Given the description of an element on the screen output the (x, y) to click on. 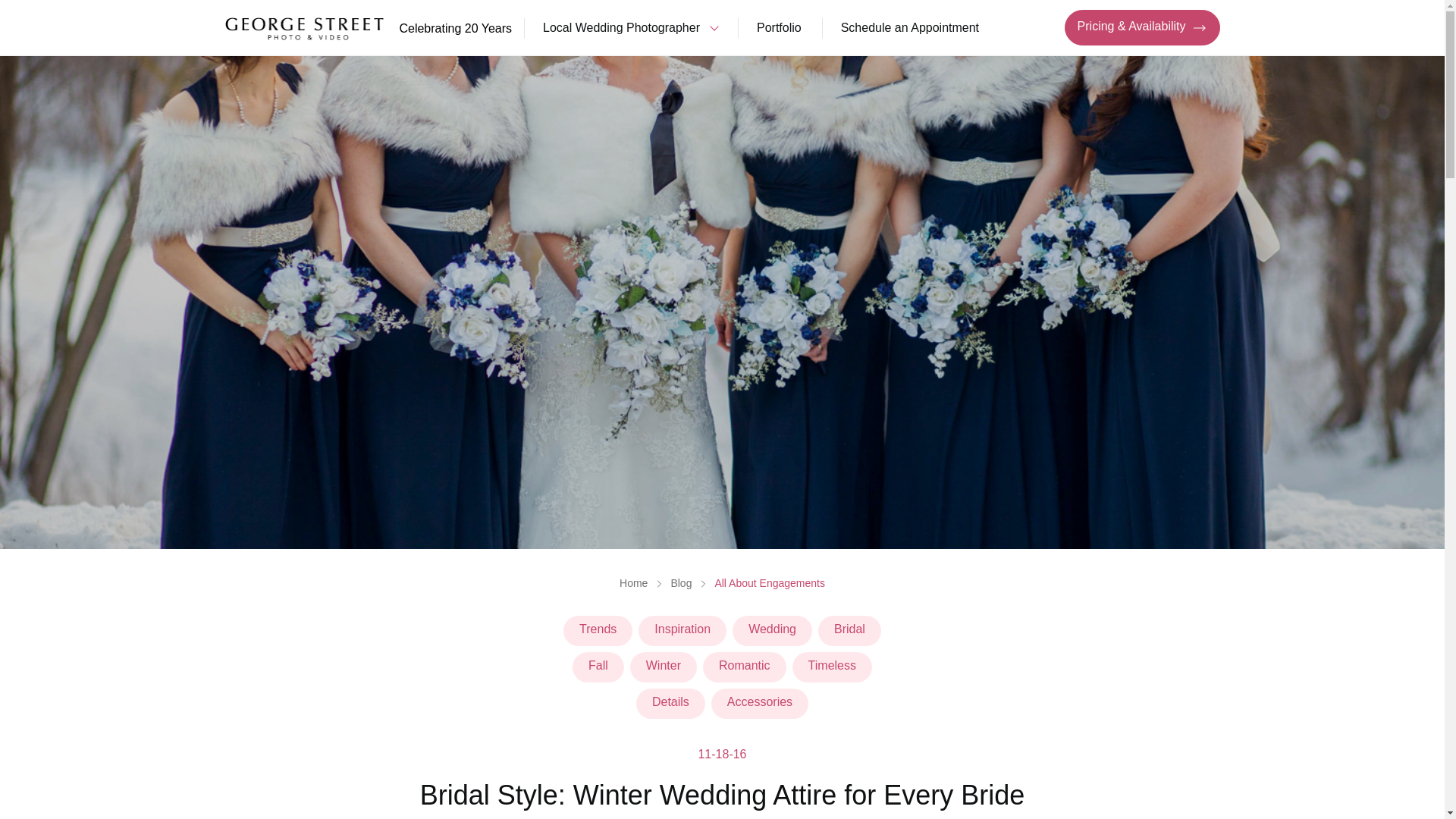
Portfolio (778, 27)
Home (633, 582)
Local Wedding Photographer (629, 27)
Schedule an Appointment (909, 27)
Celebrating 20 Years (368, 27)
Blog (680, 582)
